Given the description of an element on the screen output the (x, y) to click on. 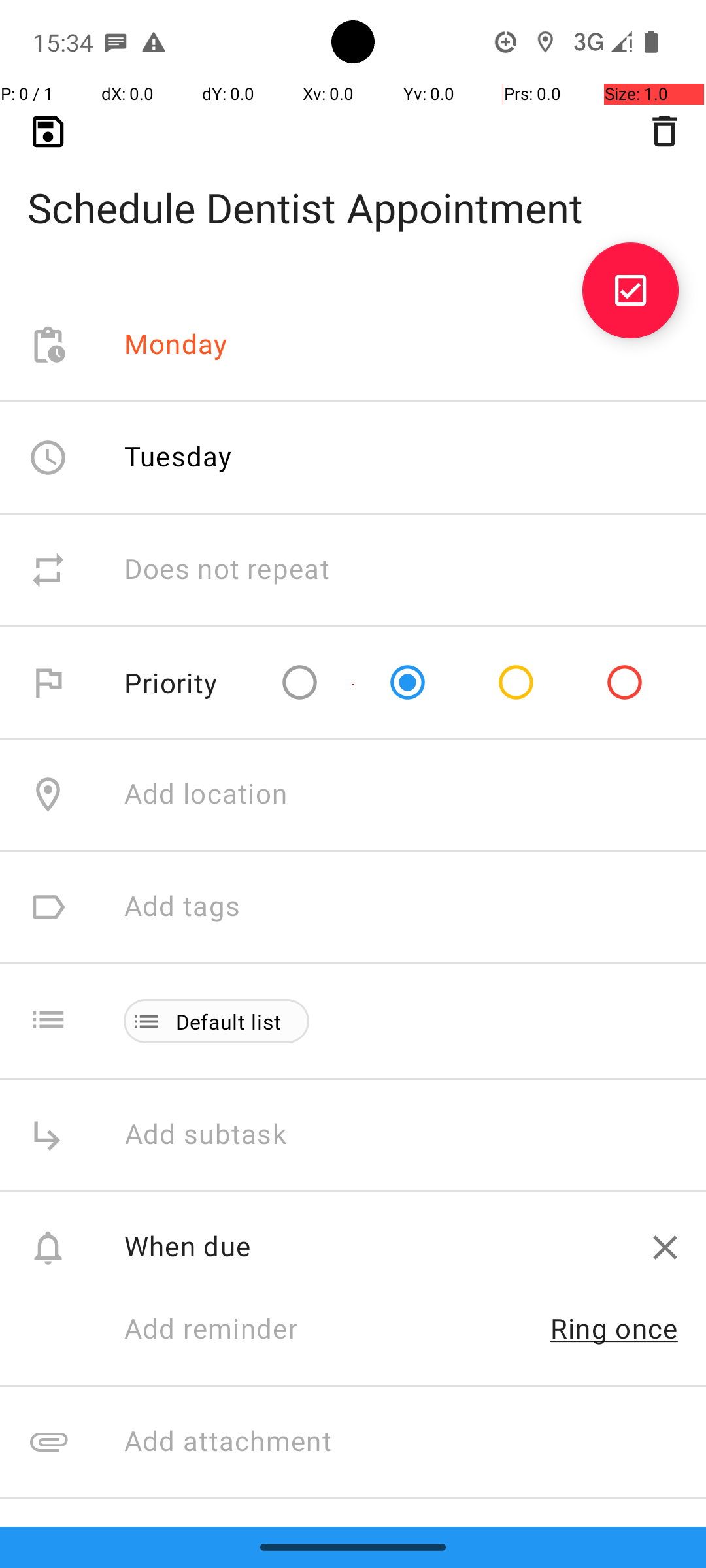
Teeth cleaning overdue. Call Dr. Smith's office. Element type: android.widget.EditText (400, 1522)
Ring once Element type: android.widget.TextView (613, 1328)
When due Element type: android.widget.TextView (373, 1245)
